Given the description of an element on the screen output the (x, y) to click on. 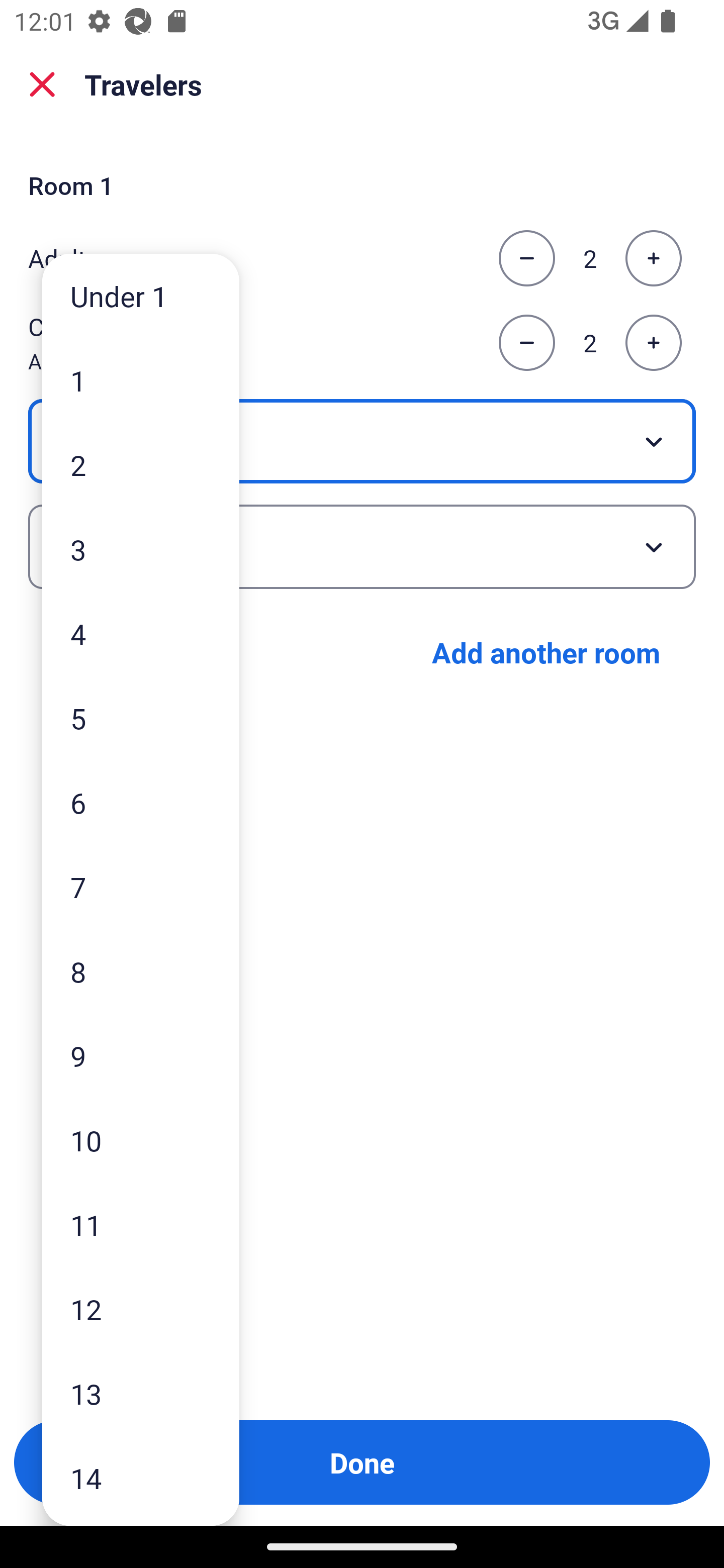
Under 1 (140, 296)
1 (140, 380)
2 (140, 464)
3 (140, 548)
4 (140, 633)
5 (140, 717)
6 (140, 802)
7 (140, 887)
8 (140, 970)
9 (140, 1054)
10 (140, 1139)
11 (140, 1224)
12 (140, 1308)
13 (140, 1393)
14 (140, 1478)
